Given the description of an element on the screen output the (x, y) to click on. 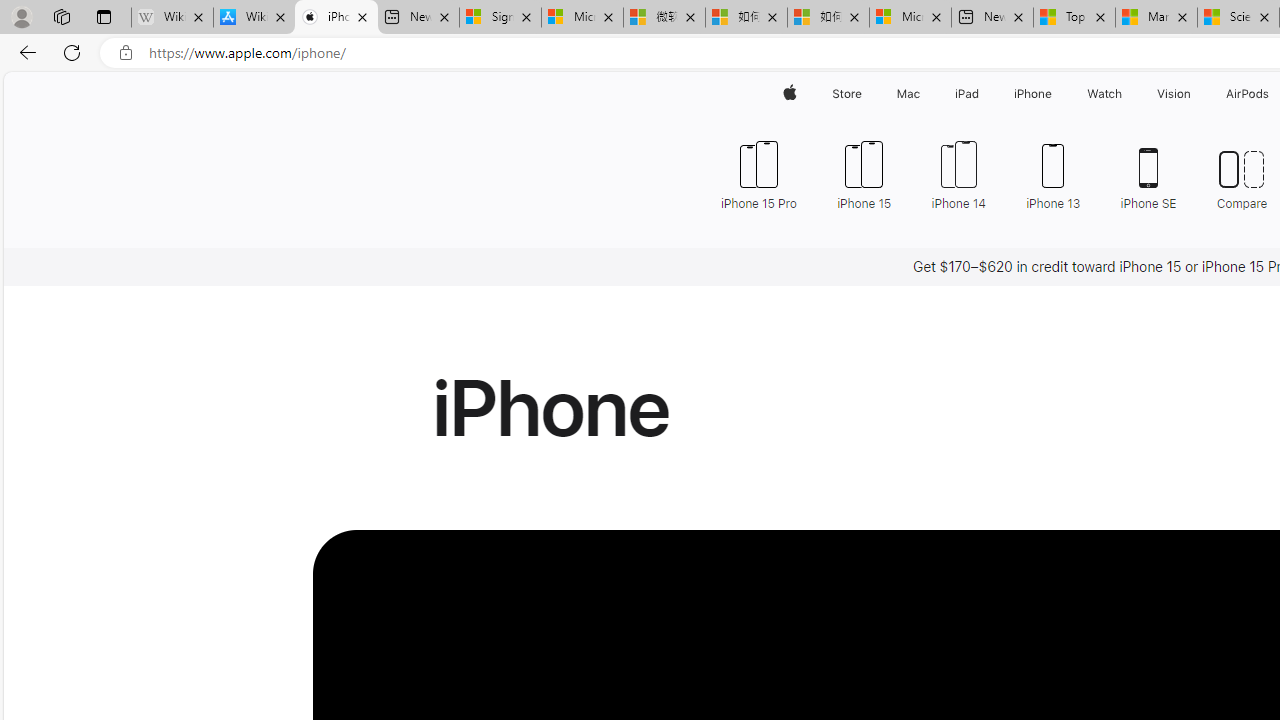
Microsoft account | Account Checkup (910, 17)
Vision (1174, 93)
iPhone SE (1147, 173)
AirPods (1247, 93)
Apple (789, 93)
iPhone 15 Pro (765, 173)
iPhone (1033, 93)
Store menu (864, 93)
iPhone 14 (957, 173)
Compare (1242, 173)
Apple (789, 93)
